Given the description of an element on the screen output the (x, y) to click on. 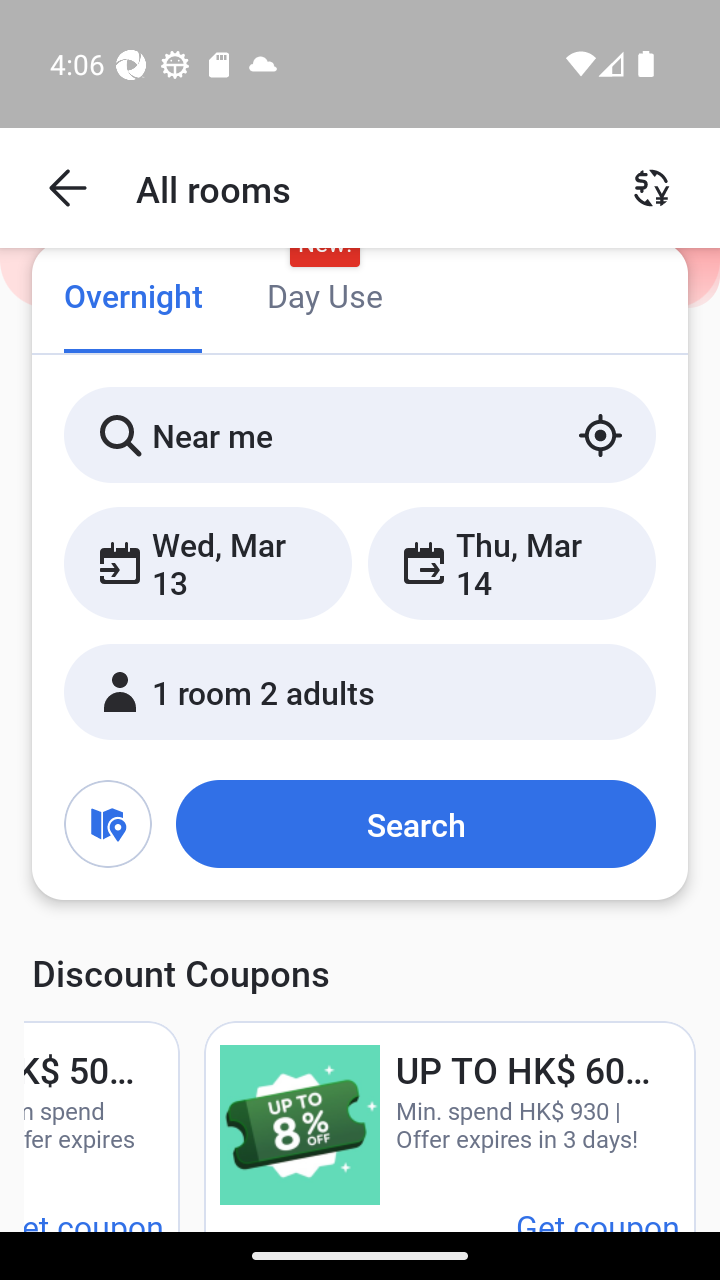
Day Use (324, 298)
Near me (359, 434)
Wed, Mar 13 (208, 562)
Thu, Mar 14 (511, 562)
1 room 2 adults (359, 691)
Search (415, 823)
